Given the description of an element on the screen output the (x, y) to click on. 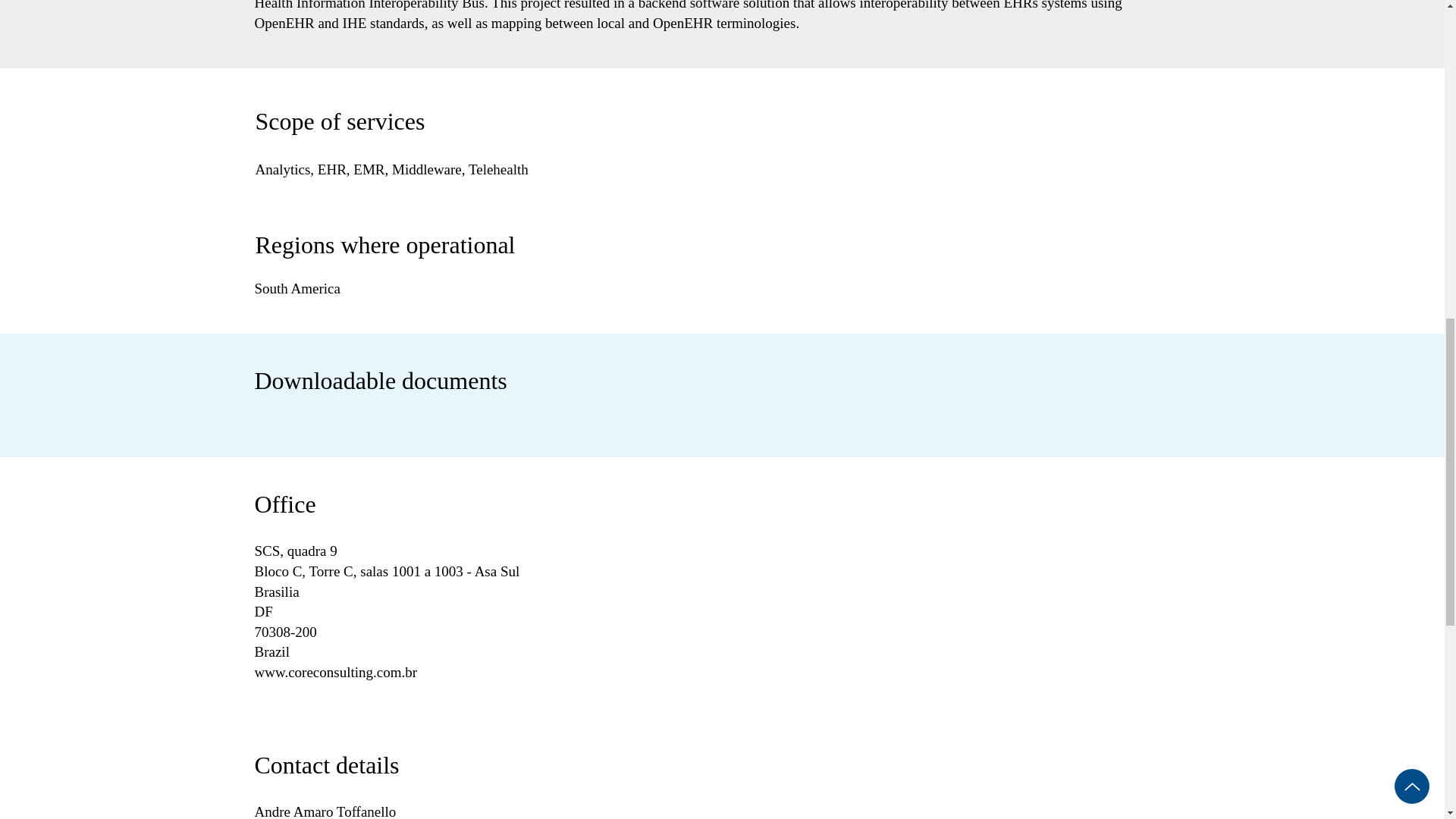
www.coreconsulting.com.br (335, 672)
